Given the description of an element on the screen output the (x, y) to click on. 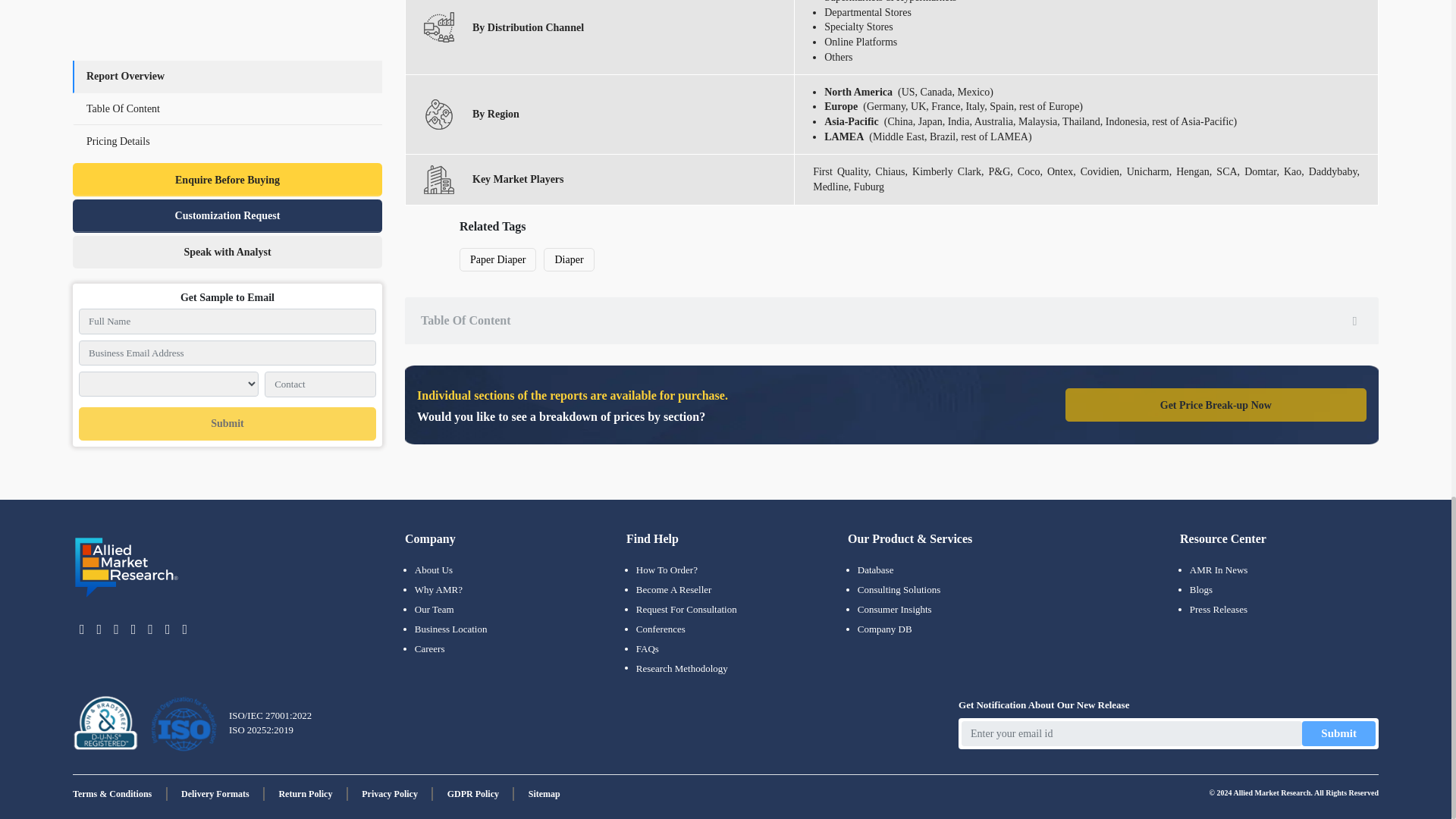
Diaper (568, 258)
Table Of Content (891, 320)
Paper Diaper (497, 258)
Paper Diaper Market By Region (438, 114)
Paper Diaper Market By Distribution Channel (438, 27)
Key Market Players (438, 179)
Allied Market Research Footer Logo (126, 567)
Duns and Bradstreet Registered Logo (105, 722)
